Given the description of an element on the screen output the (x, y) to click on. 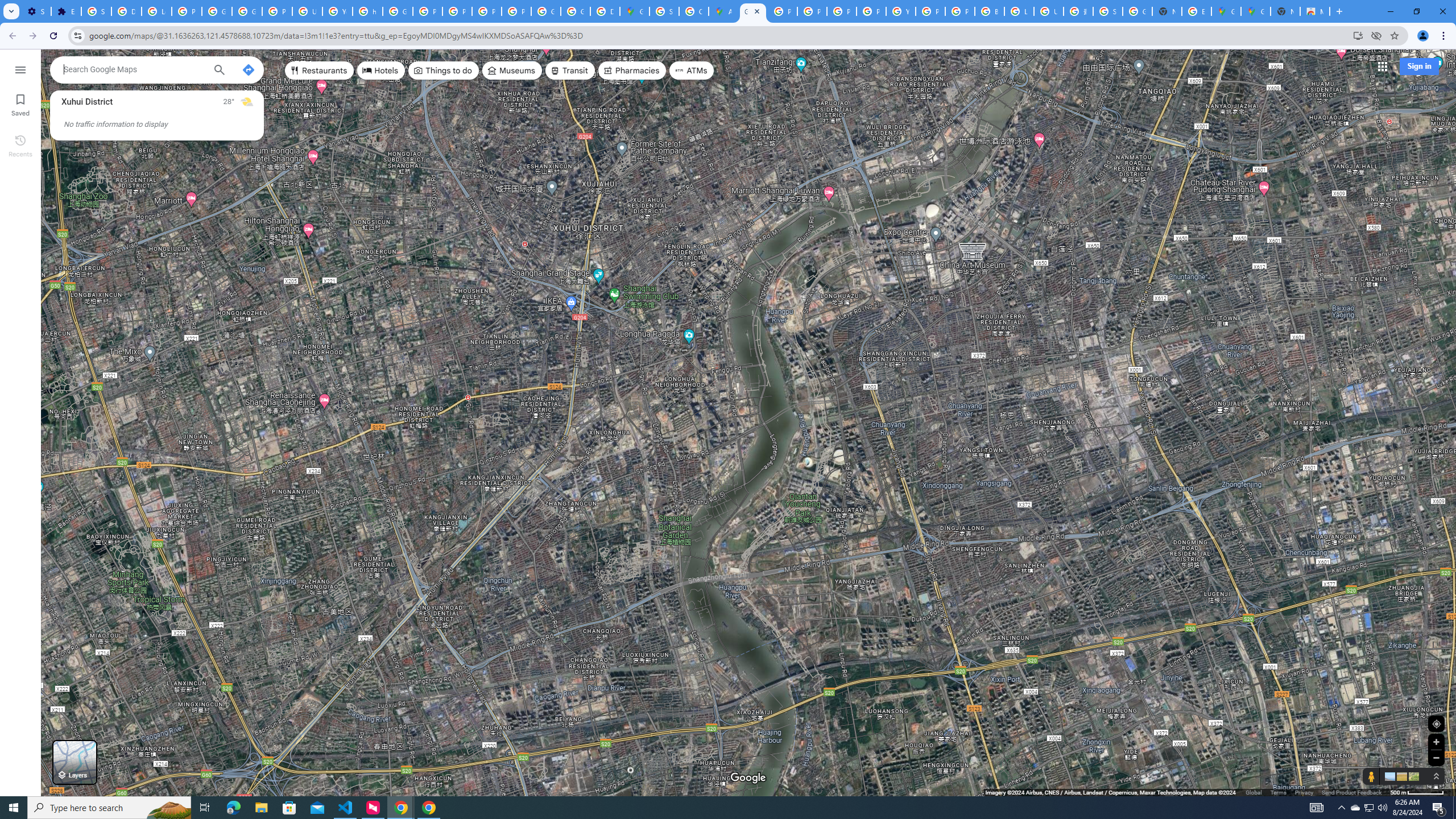
Pharmacies (632, 70)
YouTube (337, 11)
Policy Accountability and Transparency - Transparency Center (782, 11)
Restaurants (319, 70)
Things to do (443, 70)
Delete photos & videos - Computer - Google Photos Help (126, 11)
New Tab (1284, 11)
